Given the description of an element on the screen output the (x, y) to click on. 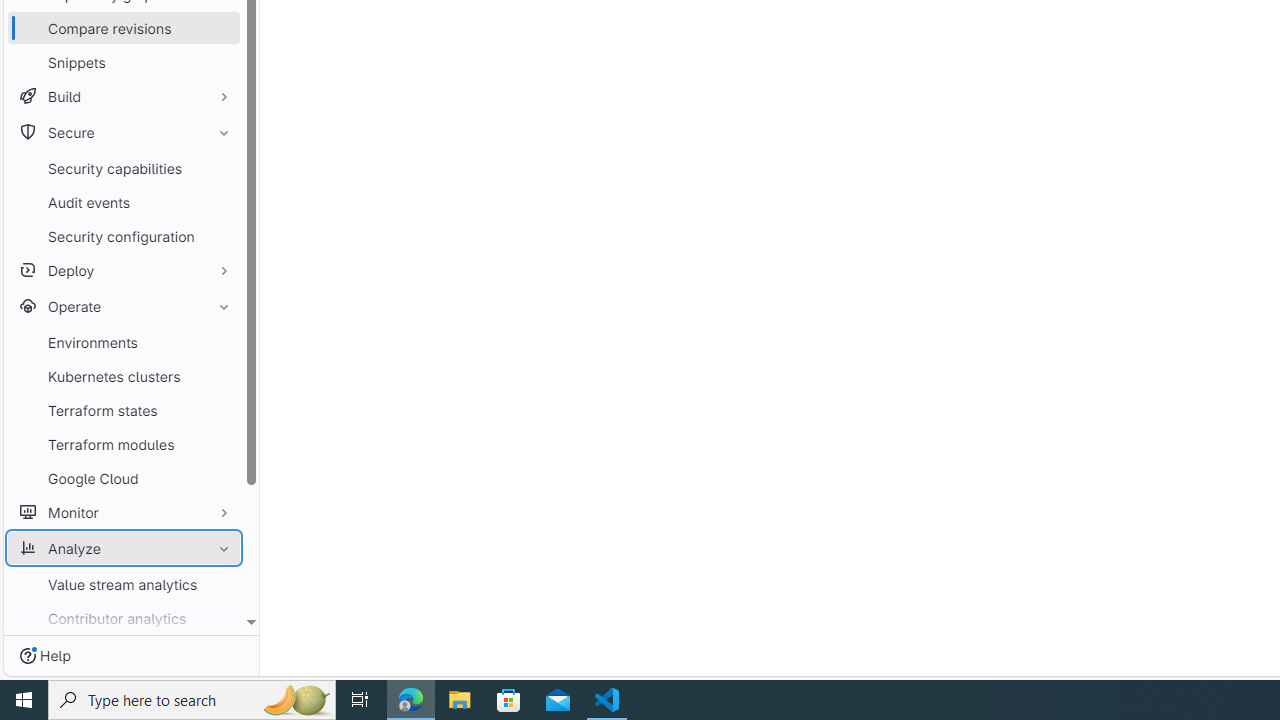
Contributor analytics (123, 618)
Repository analytics (123, 686)
Deploy (123, 270)
Snippets (123, 62)
Terraform states (123, 409)
CI/CD analytics (123, 651)
Terraform modules (123, 443)
Help (45, 655)
Kubernetes clusters (123, 376)
Security capabilities (123, 168)
Build (123, 96)
Pin Kubernetes clusters (219, 376)
Snippets (123, 62)
Environments (123, 342)
